Given the description of an element on the screen output the (x, y) to click on. 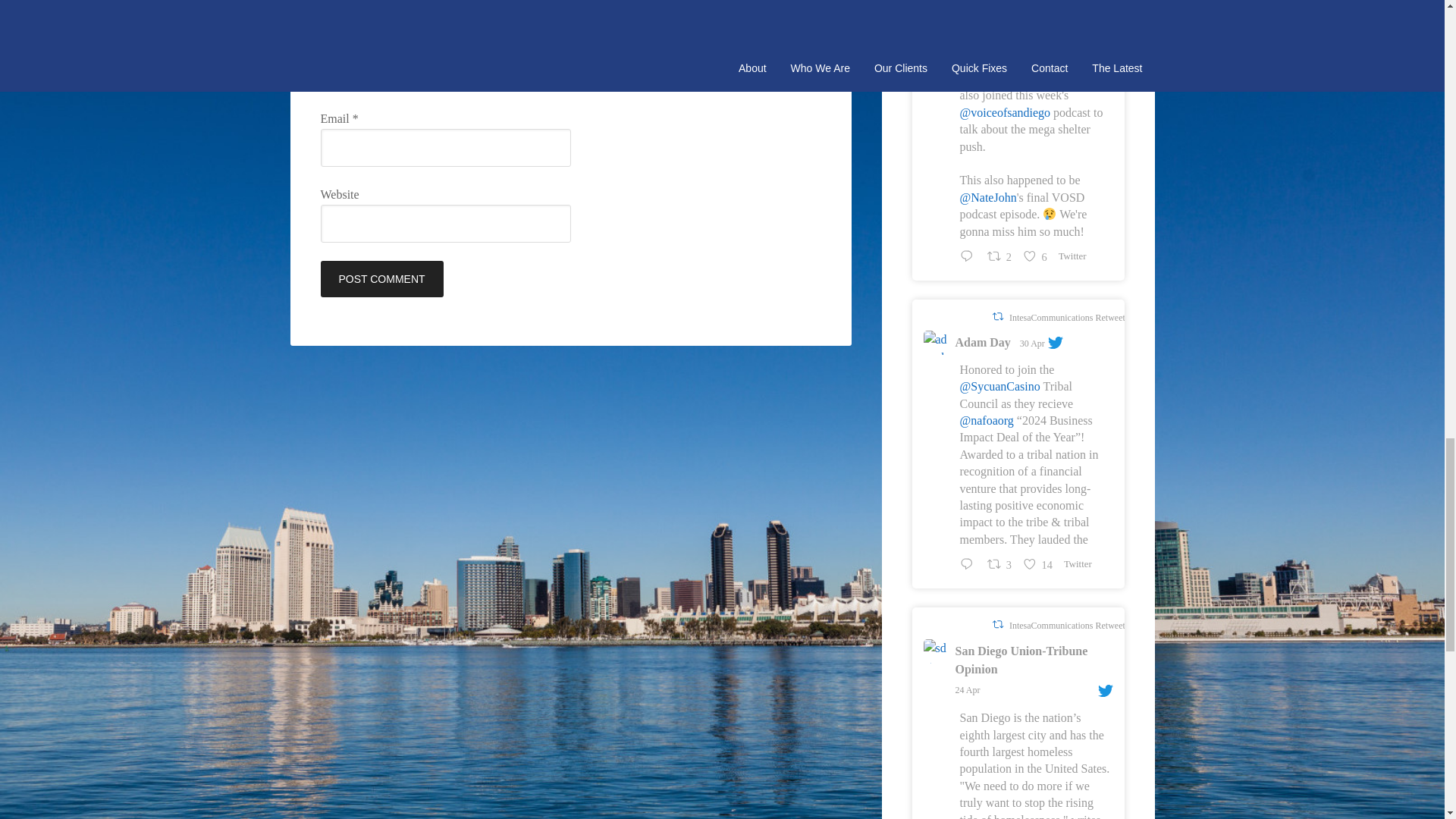
Post Comment (381, 279)
Post Comment (381, 279)
